Given the description of an element on the screen output the (x, y) to click on. 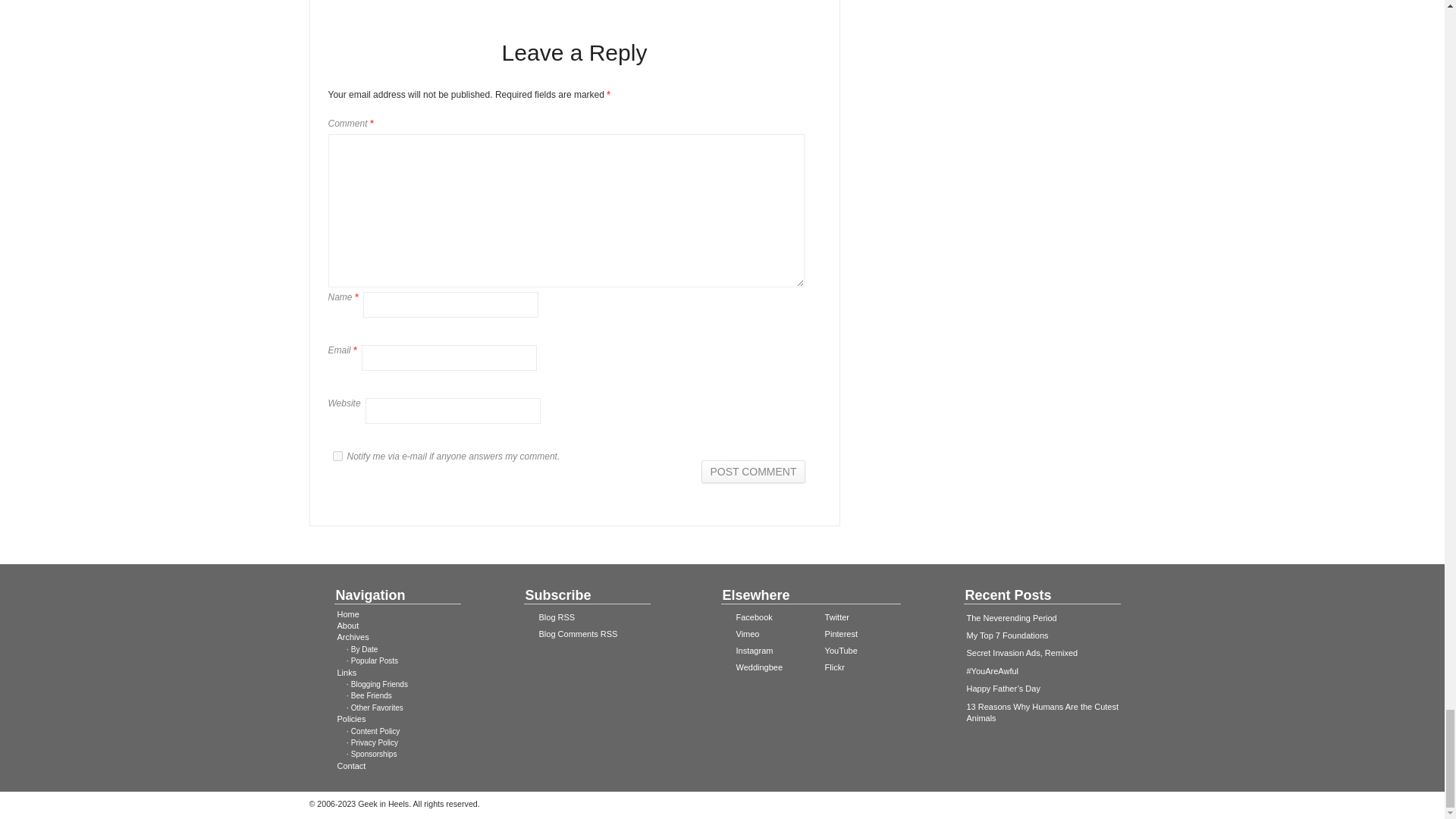
Post Comment (753, 471)
on (336, 456)
